Given the description of an element on the screen output the (x, y) to click on. 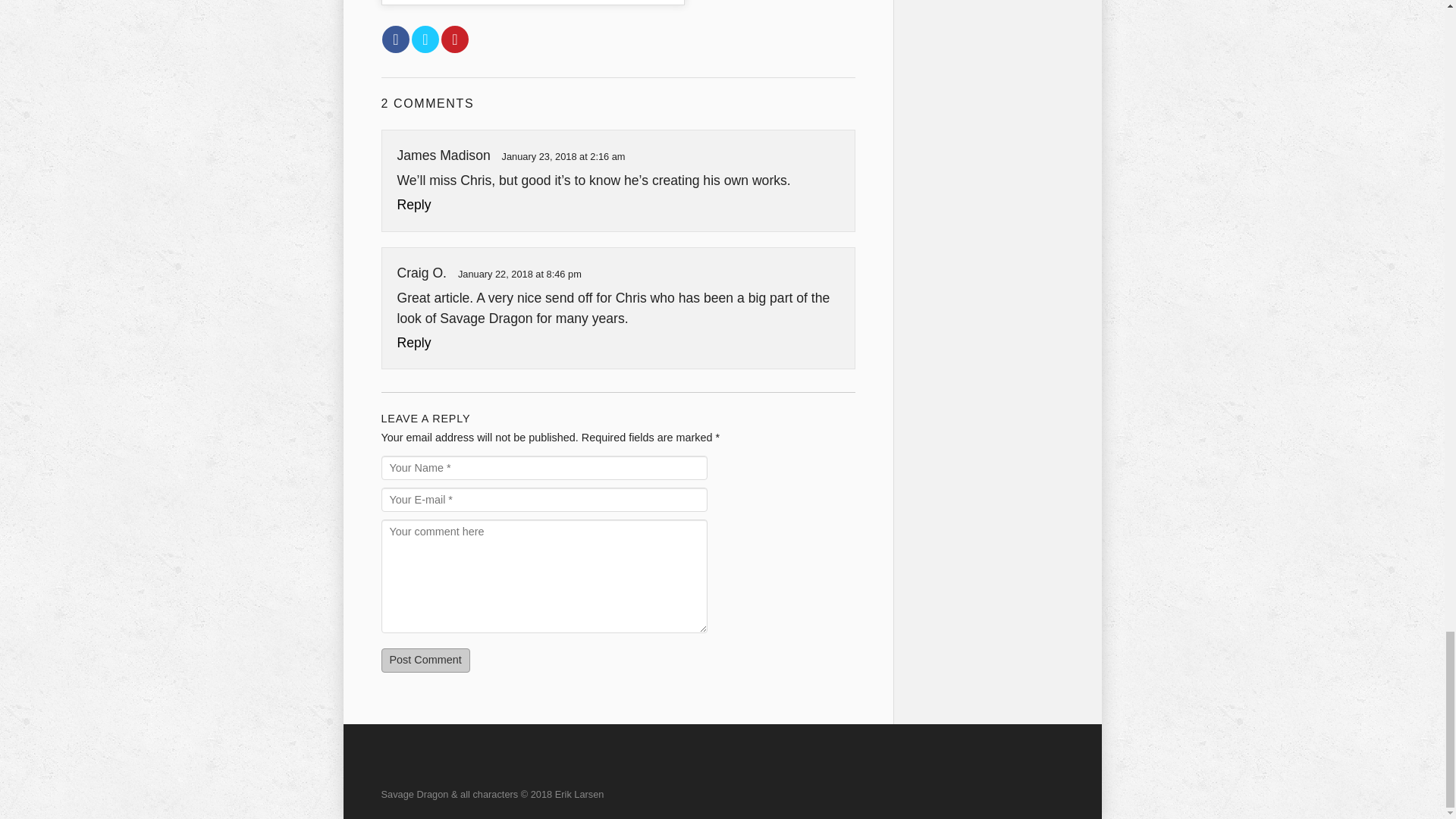
Post Comment (424, 660)
Reply (413, 342)
Share on Facebook (395, 39)
Reply (413, 204)
Share on Twitter (425, 39)
Post Comment (424, 660)
Share on Pinterest (454, 39)
